Given the description of an element on the screen output the (x, y) to click on. 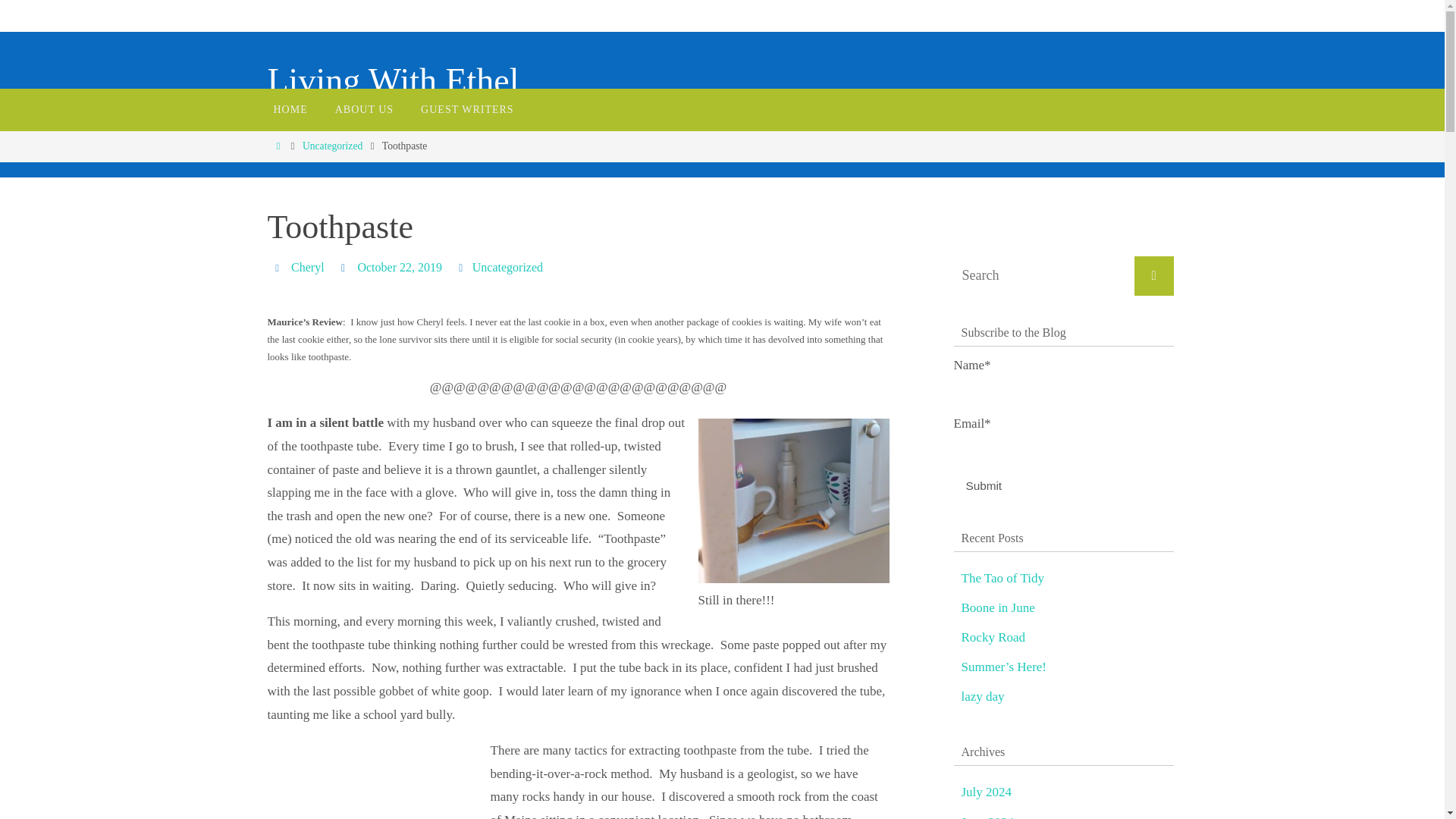
RSS (1428, 370)
Submit (983, 485)
Mail (350, 12)
RSS (386, 12)
Home (277, 145)
Date (345, 267)
October 22, 2019 (399, 267)
GUEST WRITERS (467, 109)
Living With Ethel (392, 81)
HOME (289, 109)
